Given the description of an element on the screen output the (x, y) to click on. 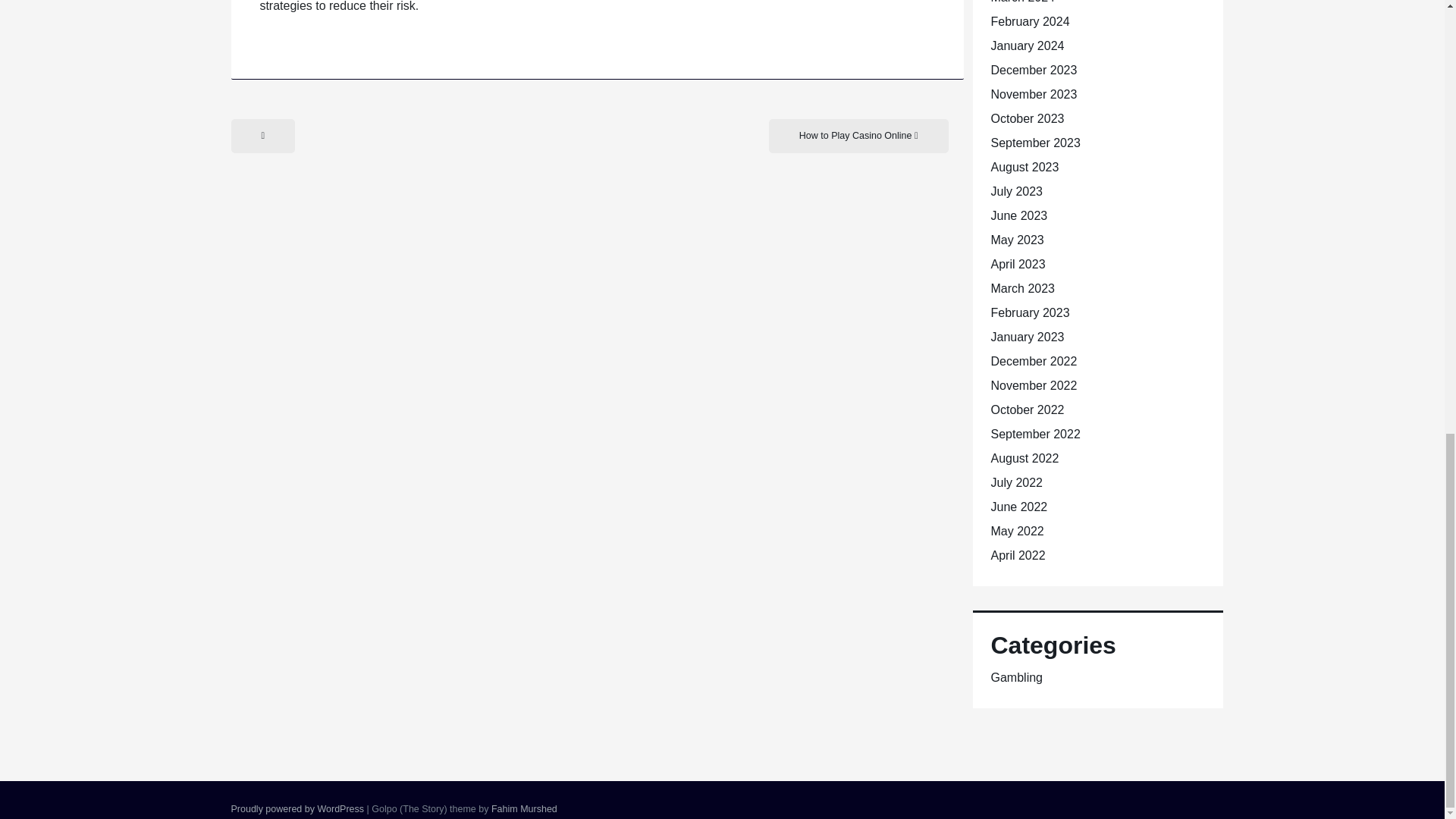
March 2023 (1022, 287)
March 2024 (1022, 2)
August 2022 (1024, 458)
September 2023 (1035, 142)
January 2024 (1027, 45)
October 2023 (1027, 118)
January 2023 (1027, 336)
December 2022 (1033, 360)
June 2023 (1018, 215)
July 2022 (1016, 481)
May 2022 (1016, 530)
November 2023 (1033, 93)
November 2022 (1033, 385)
February 2023 (1029, 312)
How to Play Casino Online (858, 135)
